Given the description of an element on the screen output the (x, y) to click on. 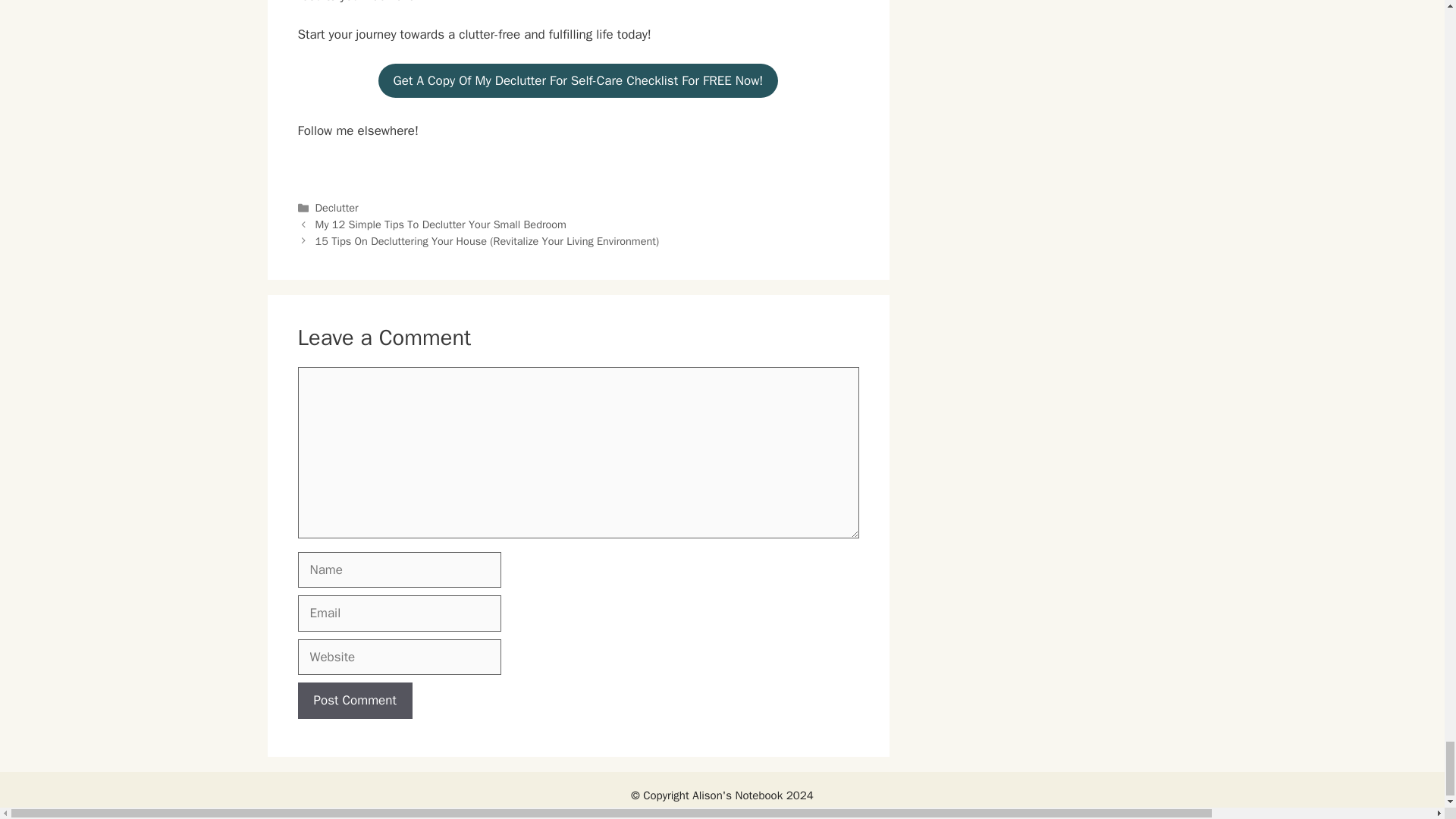
Post Comment (354, 700)
